Given the description of an element on the screen output the (x, y) to click on. 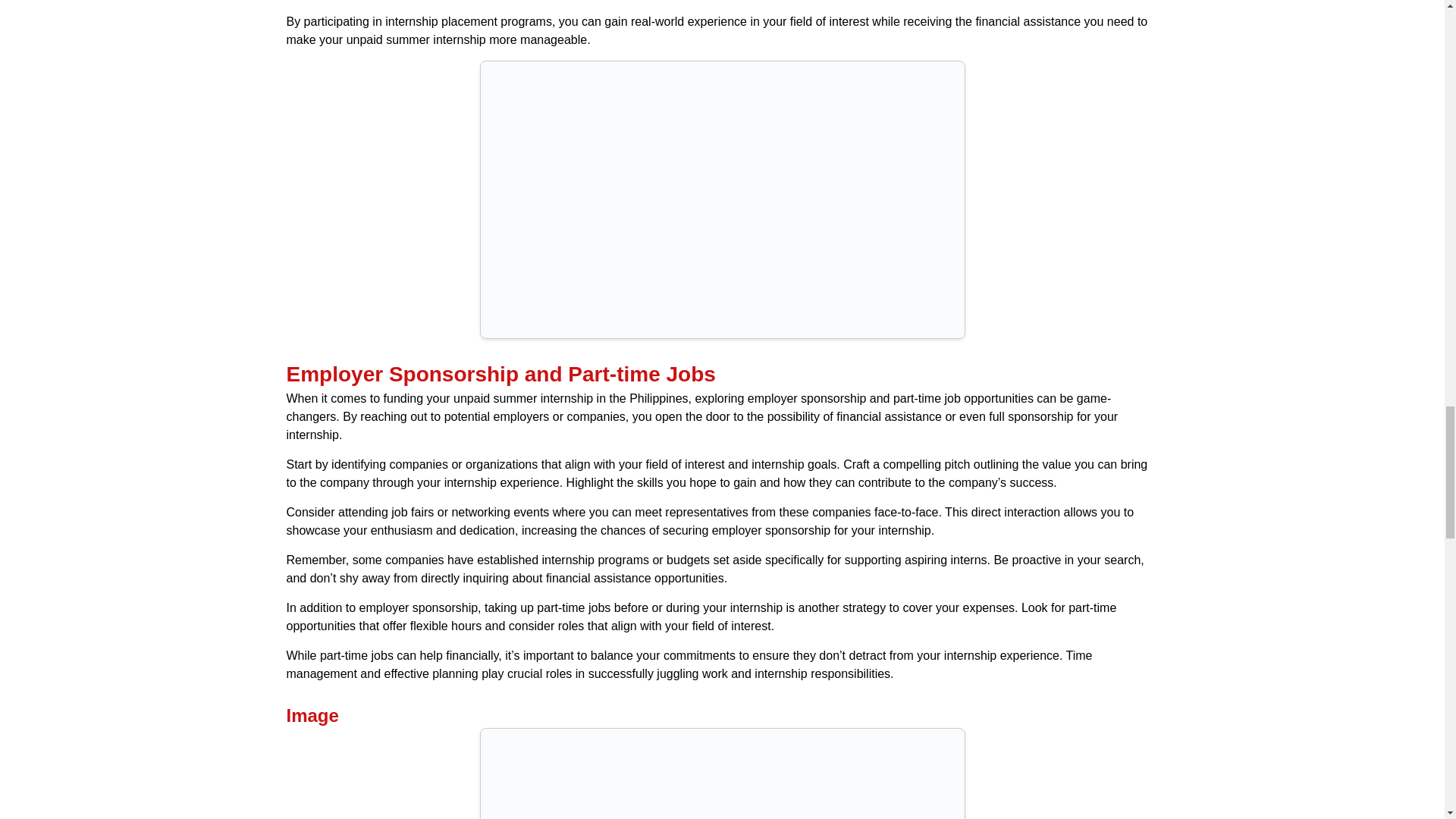
employer sponsorship and part-time jobs (721, 773)
